Given the description of an element on the screen output the (x, y) to click on. 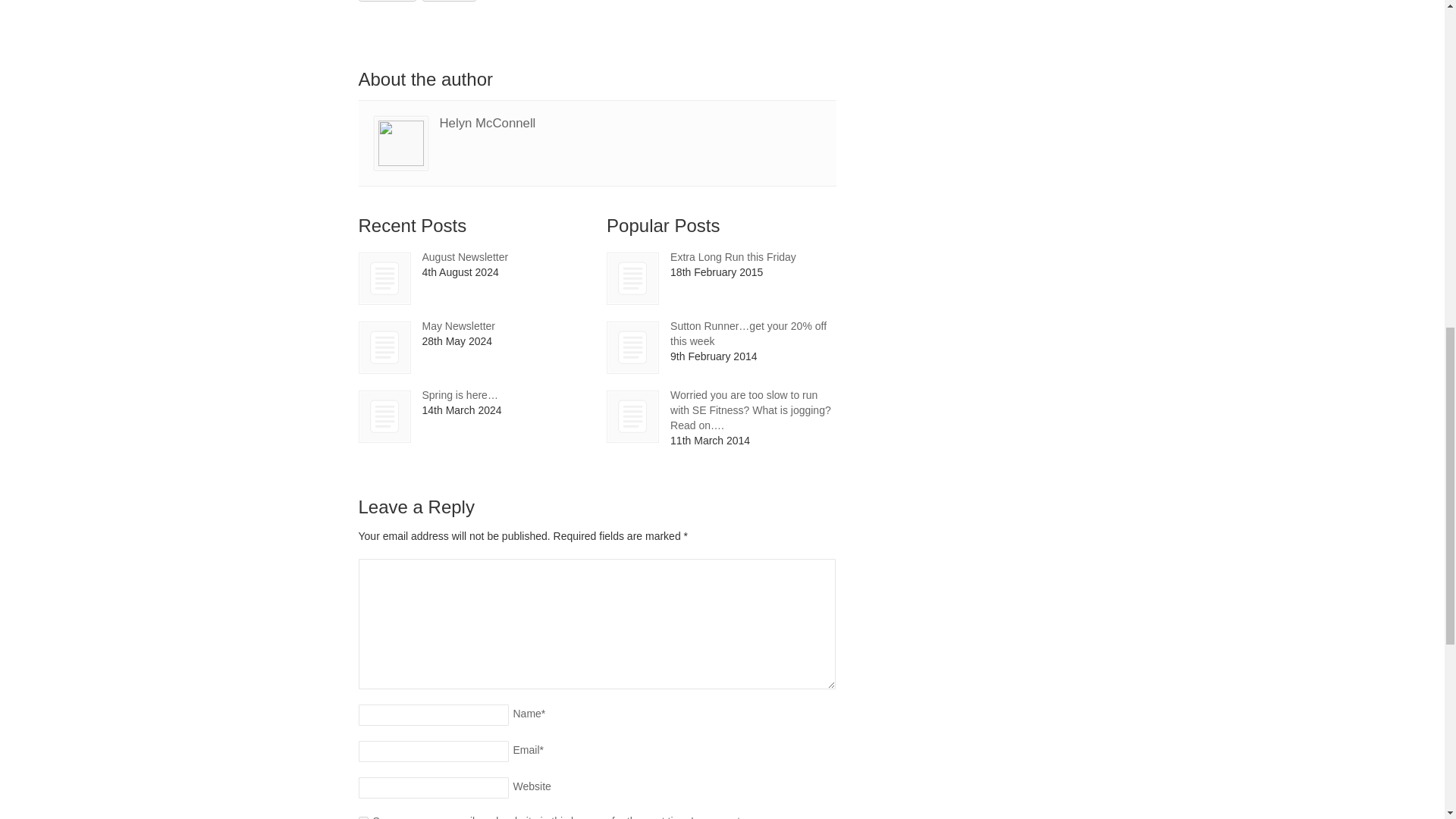
Click to email a link to a friend (387, 0)
Posts by Helyn McConnell (487, 123)
Click to print (449, 0)
August Newsletter (384, 278)
